Given the description of an element on the screen output the (x, y) to click on. 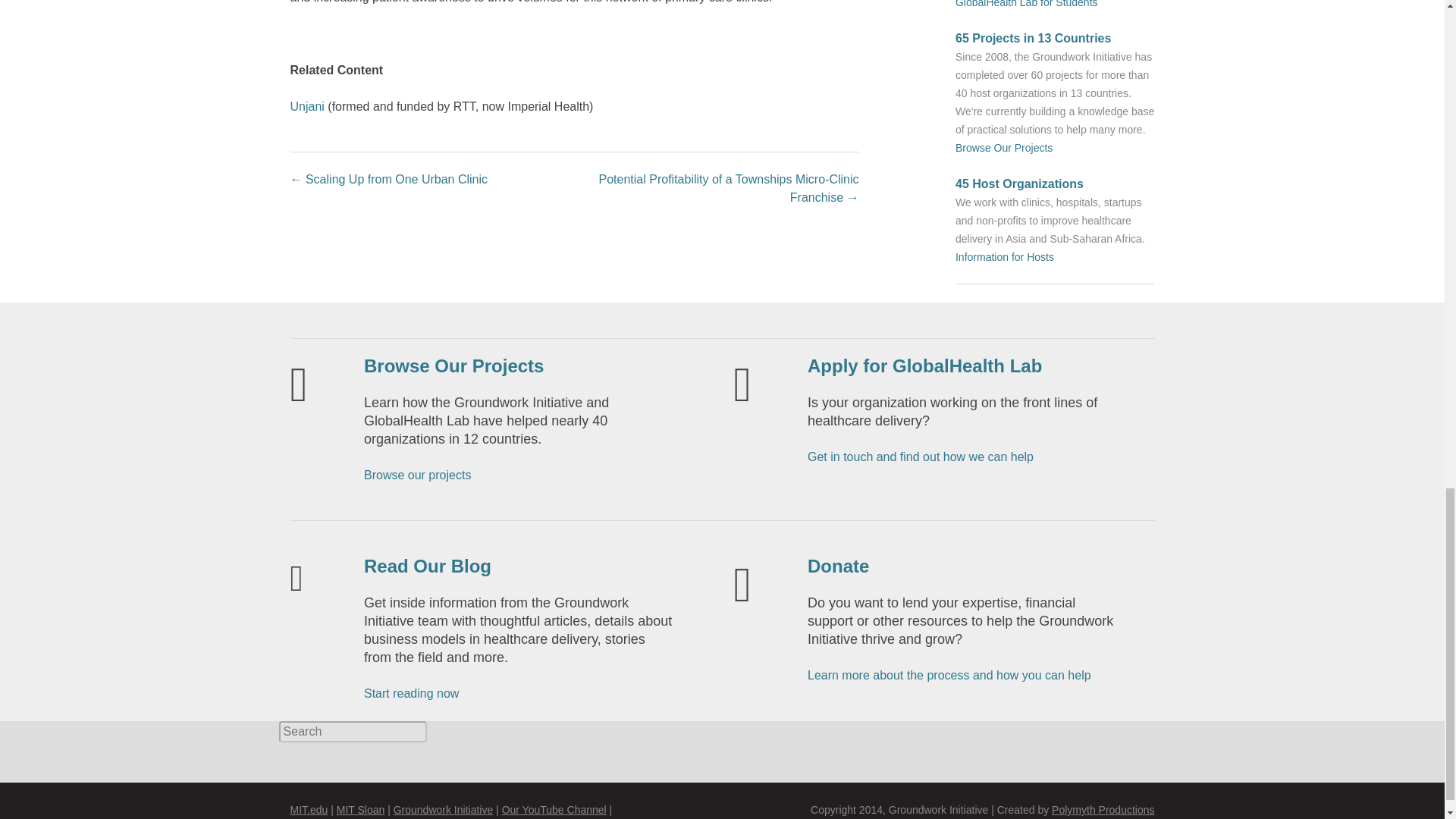
Unjani (306, 106)
